Given the description of an element on the screen output the (x, y) to click on. 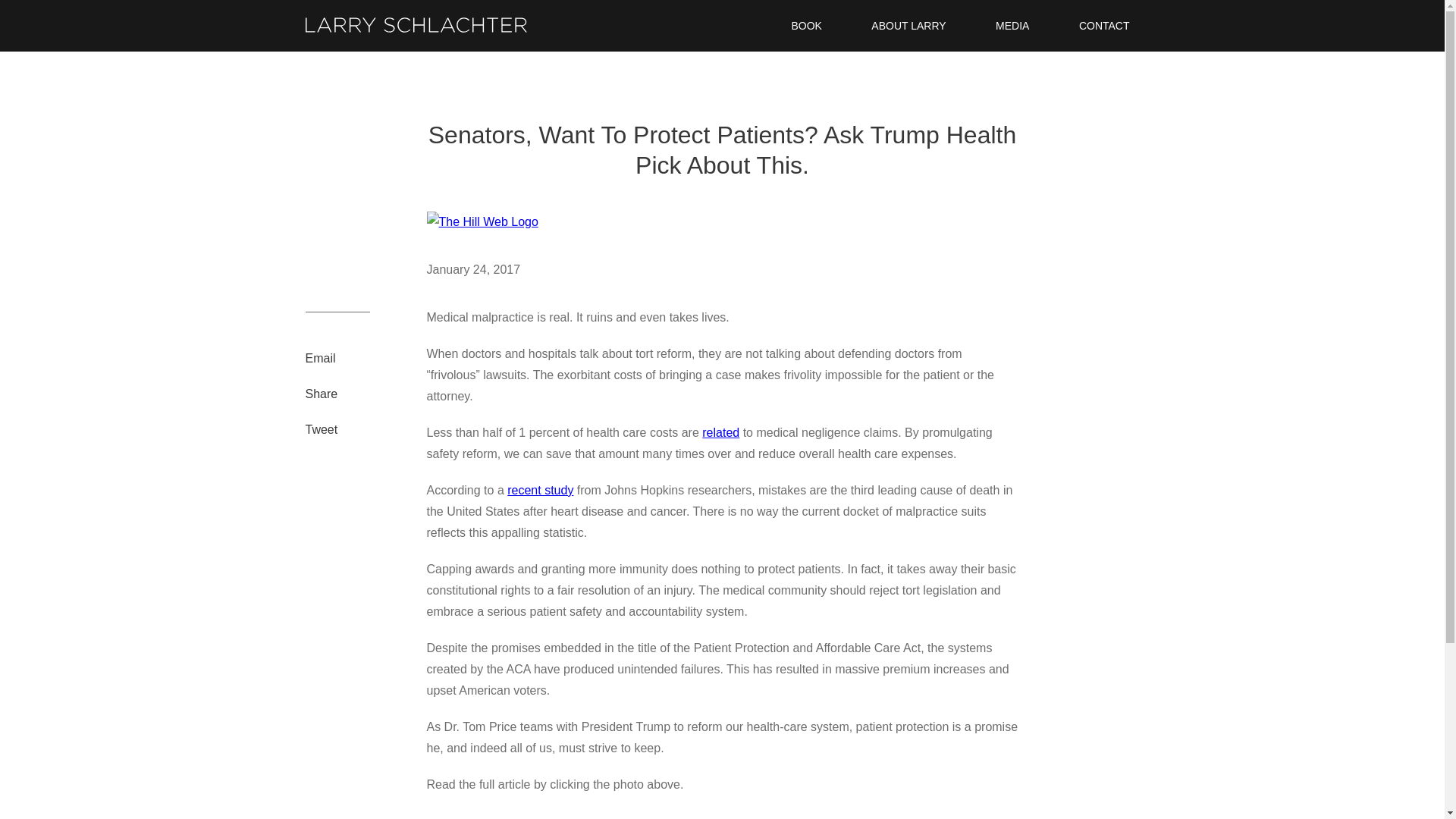
Email (319, 358)
ABOUT LARRY (908, 25)
related (720, 431)
recent study (539, 490)
BOOK (805, 25)
MEDIA (1012, 25)
Share (320, 393)
CONTACT (1104, 25)
Tweet (320, 429)
